Given the description of an element on the screen output the (x, y) to click on. 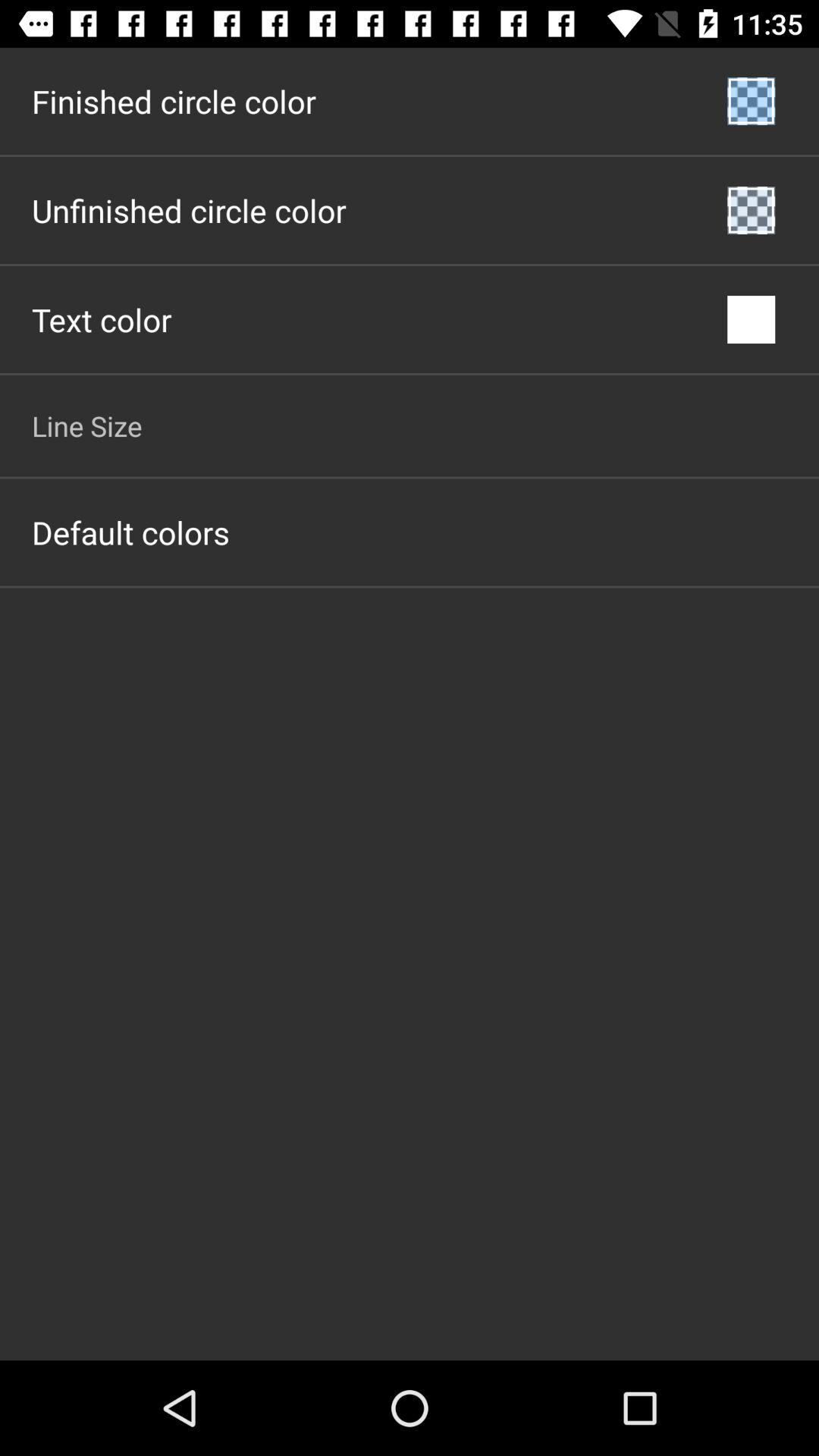
tap item on the left (130, 531)
